Given the description of an element on the screen output the (x, y) to click on. 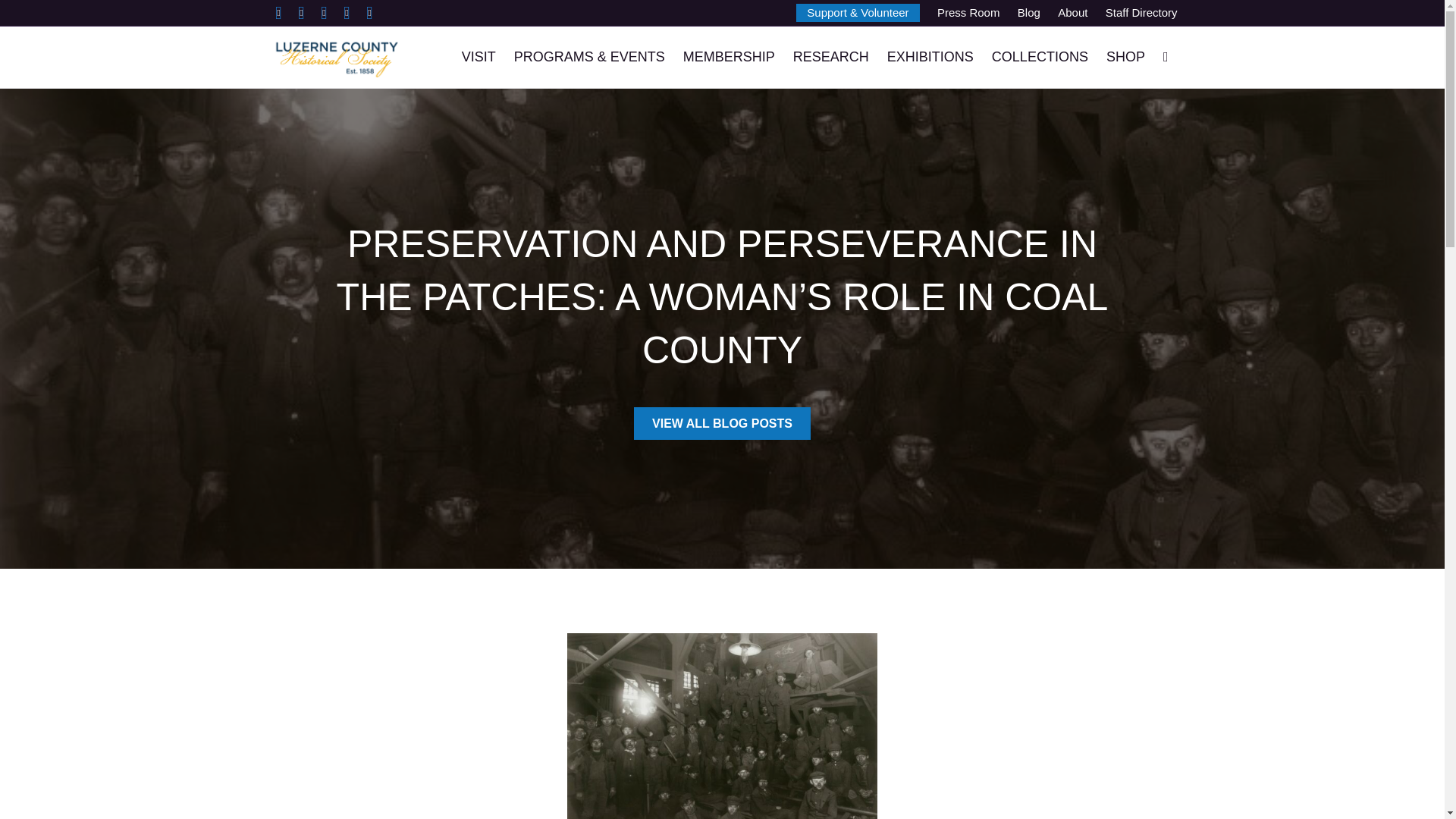
Facebook (277, 13)
Press Room (968, 12)
Youtube (323, 13)
Rss (369, 13)
Staff Directory (1141, 12)
Blog (1029, 12)
About (1071, 12)
Twitter (301, 13)
VISIT (478, 56)
Instagram (346, 13)
